Given the description of an element on the screen output the (x, y) to click on. 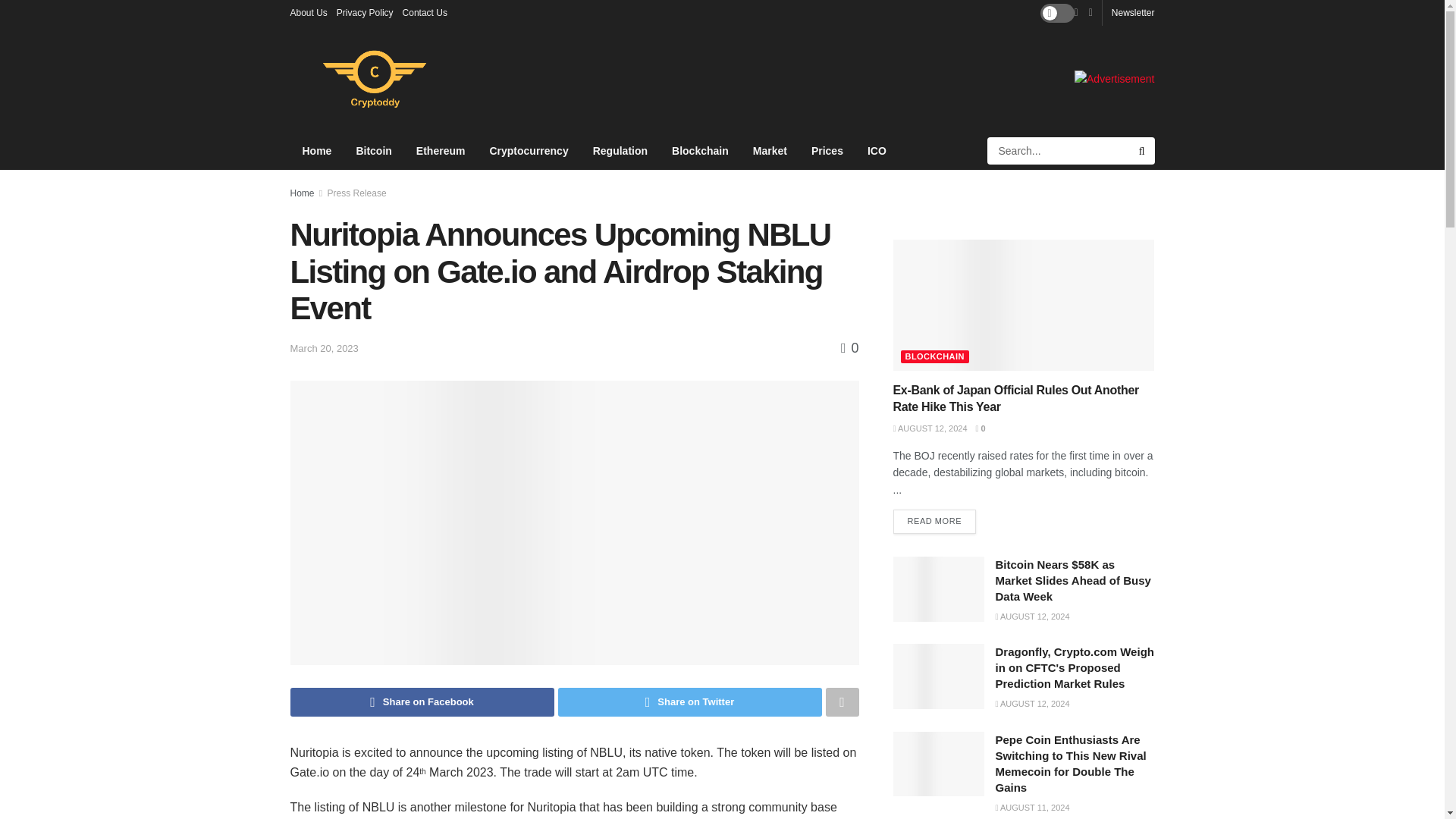
Prices (827, 150)
Ethereum (440, 150)
Press Release (357, 193)
Privacy Policy (364, 12)
Home (301, 193)
About Us (307, 12)
Regulation (619, 150)
Newsletter (1133, 12)
Cryptocurrency (528, 150)
Blockchain (700, 150)
